Given the description of an element on the screen output the (x, y) to click on. 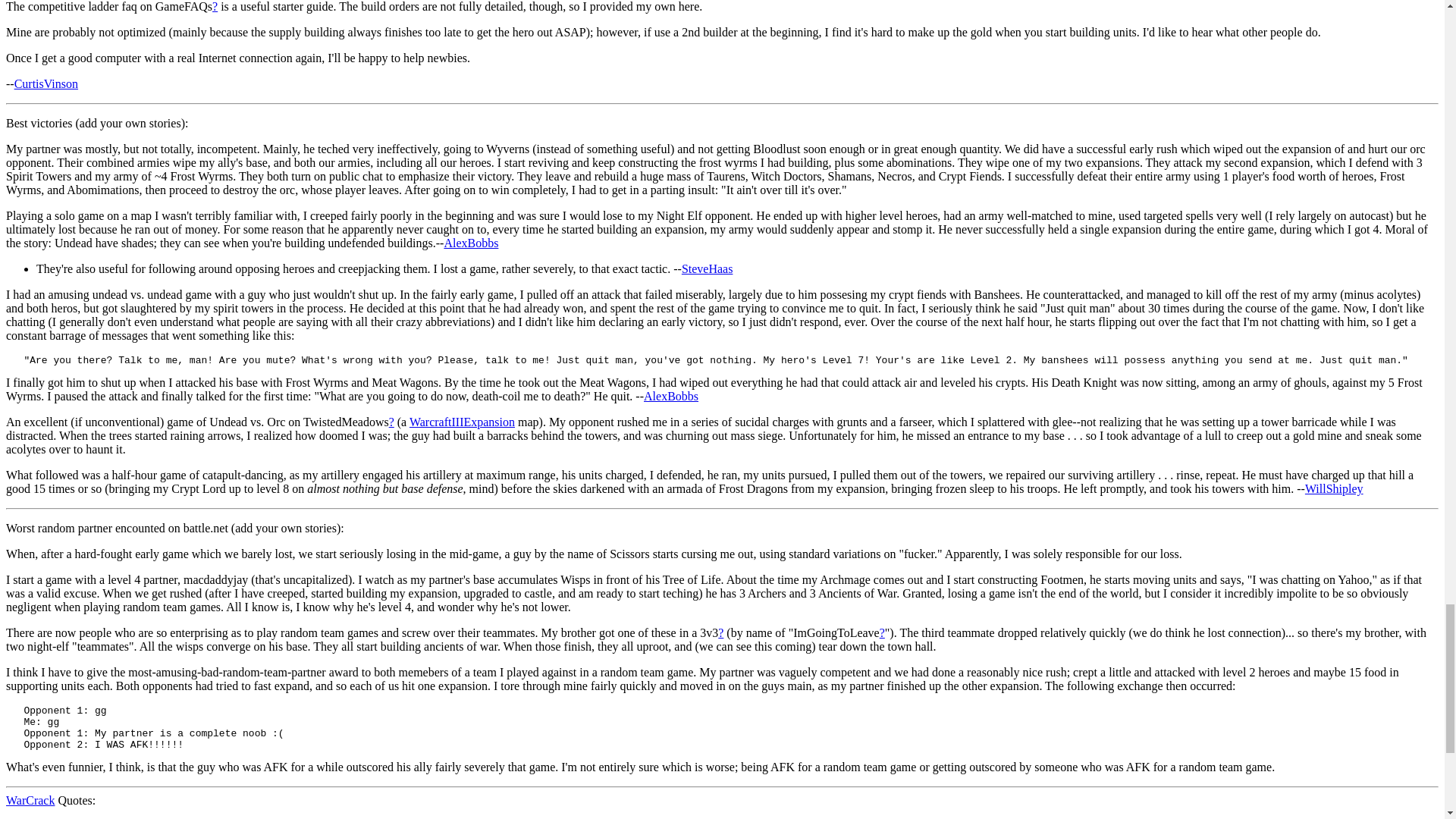
SteveHaas (707, 268)
? (214, 6)
AlexBobbs (670, 395)
AlexBobbs (470, 242)
CurtisVinson (46, 83)
